Given the description of an element on the screen output the (x, y) to click on. 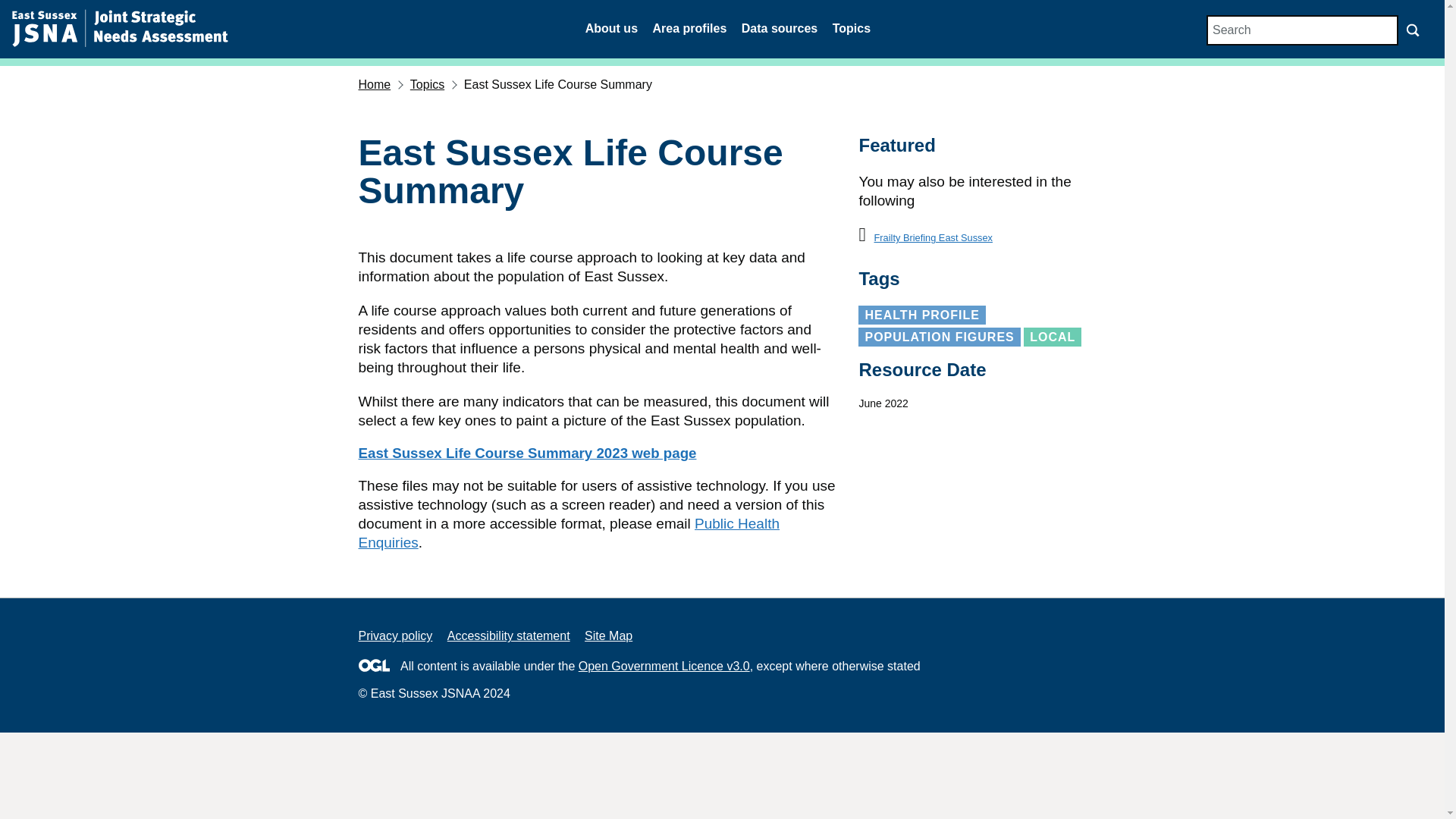
Skip to main content (11, 7)
About us (611, 28)
Accessibility statement (508, 635)
Topics (851, 28)
Privacy policy (395, 635)
Home (374, 83)
Site Map (608, 635)
Open Government Licence v3.0 (663, 666)
Data sources (779, 28)
JSNA Life Course Summary East Sussex 2023 (526, 453)
POPULATION FIGURES (938, 336)
Area profiles (689, 28)
Search (1302, 30)
Search (1412, 30)
Public Health Enquiries (568, 532)
